Given the description of an element on the screen output the (x, y) to click on. 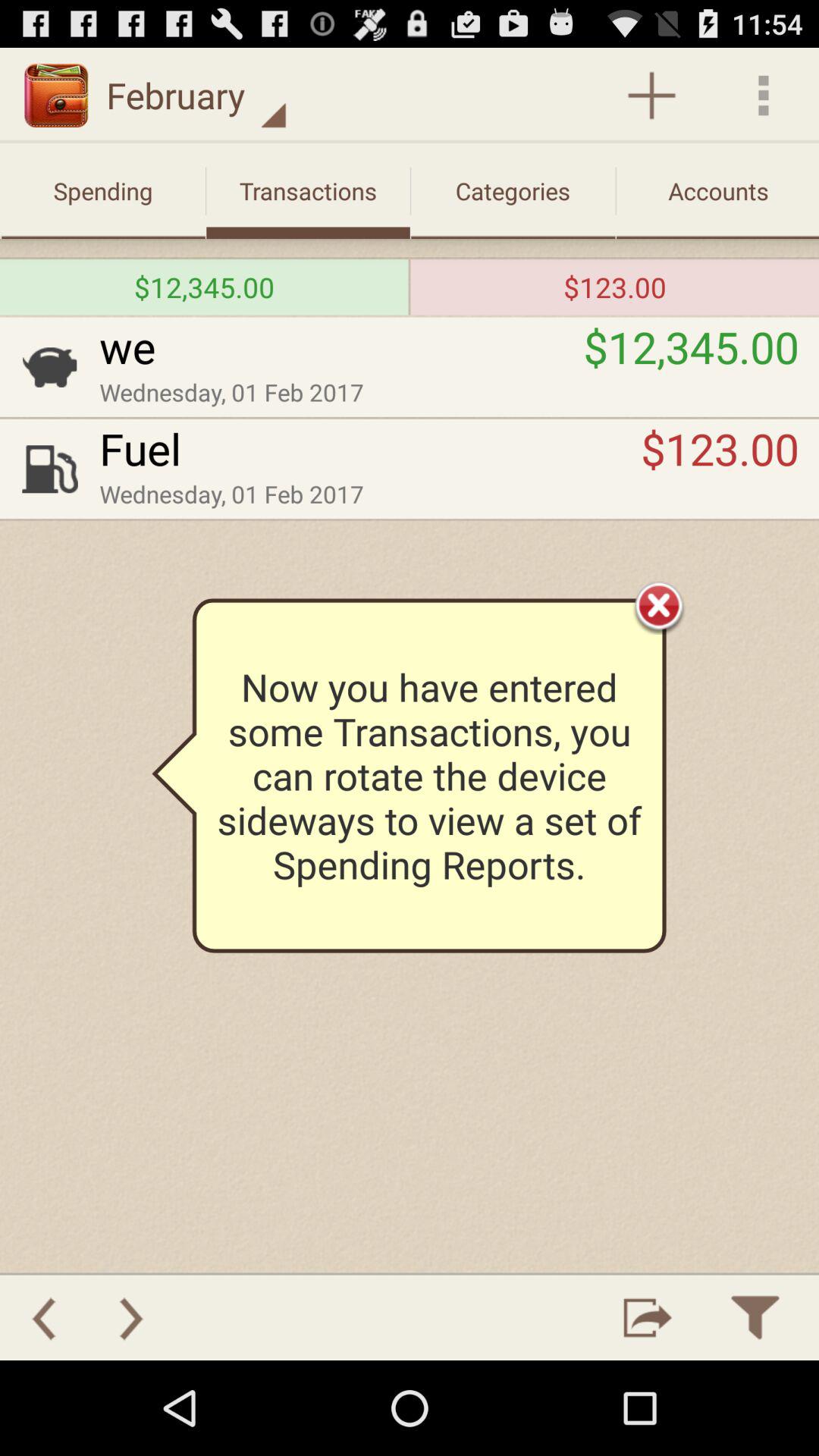
swipe until the fuel app (369, 448)
